Given the description of an element on the screen output the (x, y) to click on. 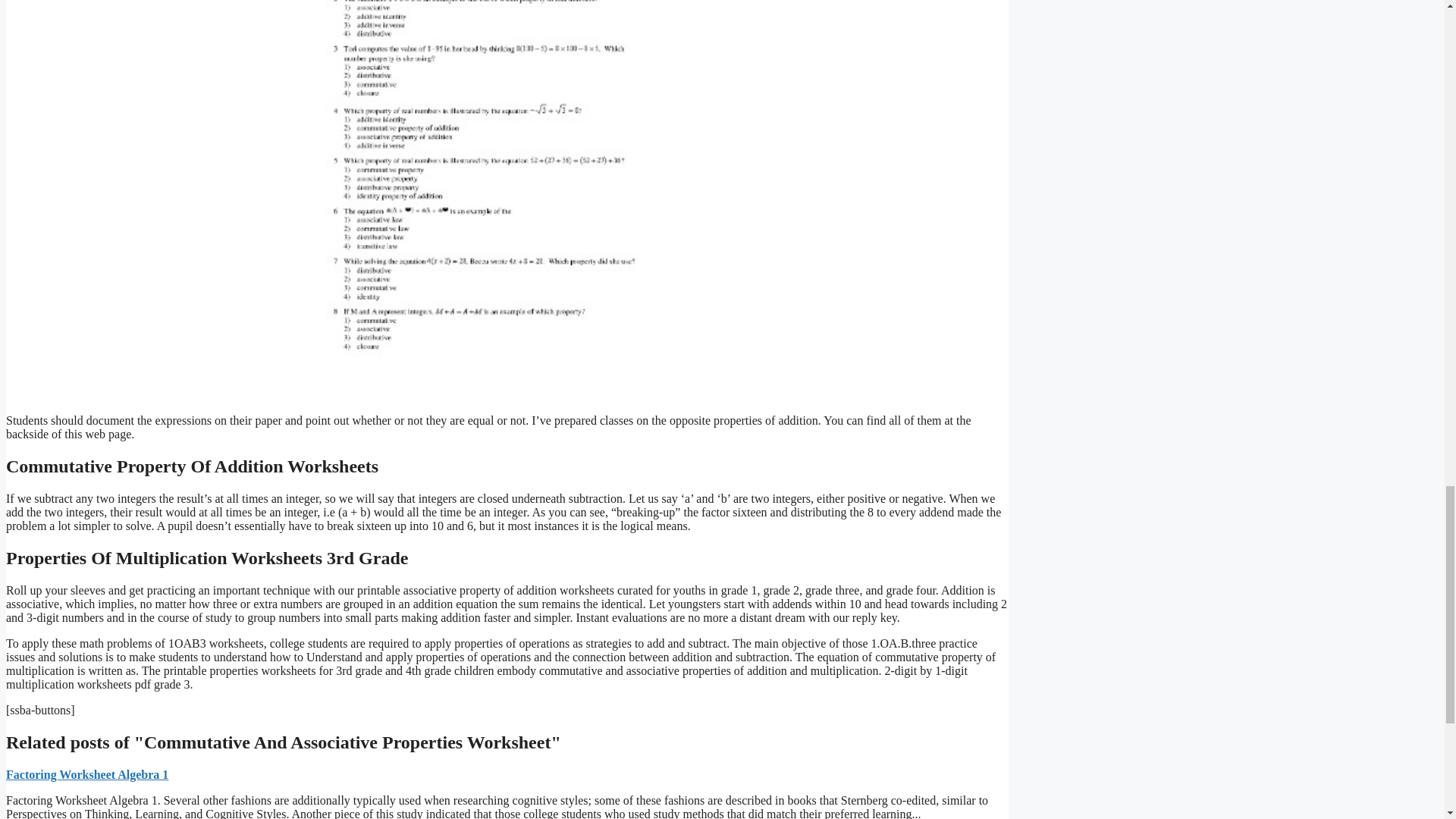
Factoring Worksheet Algebra 1 (86, 774)
